Given the description of an element on the screen output the (x, y) to click on. 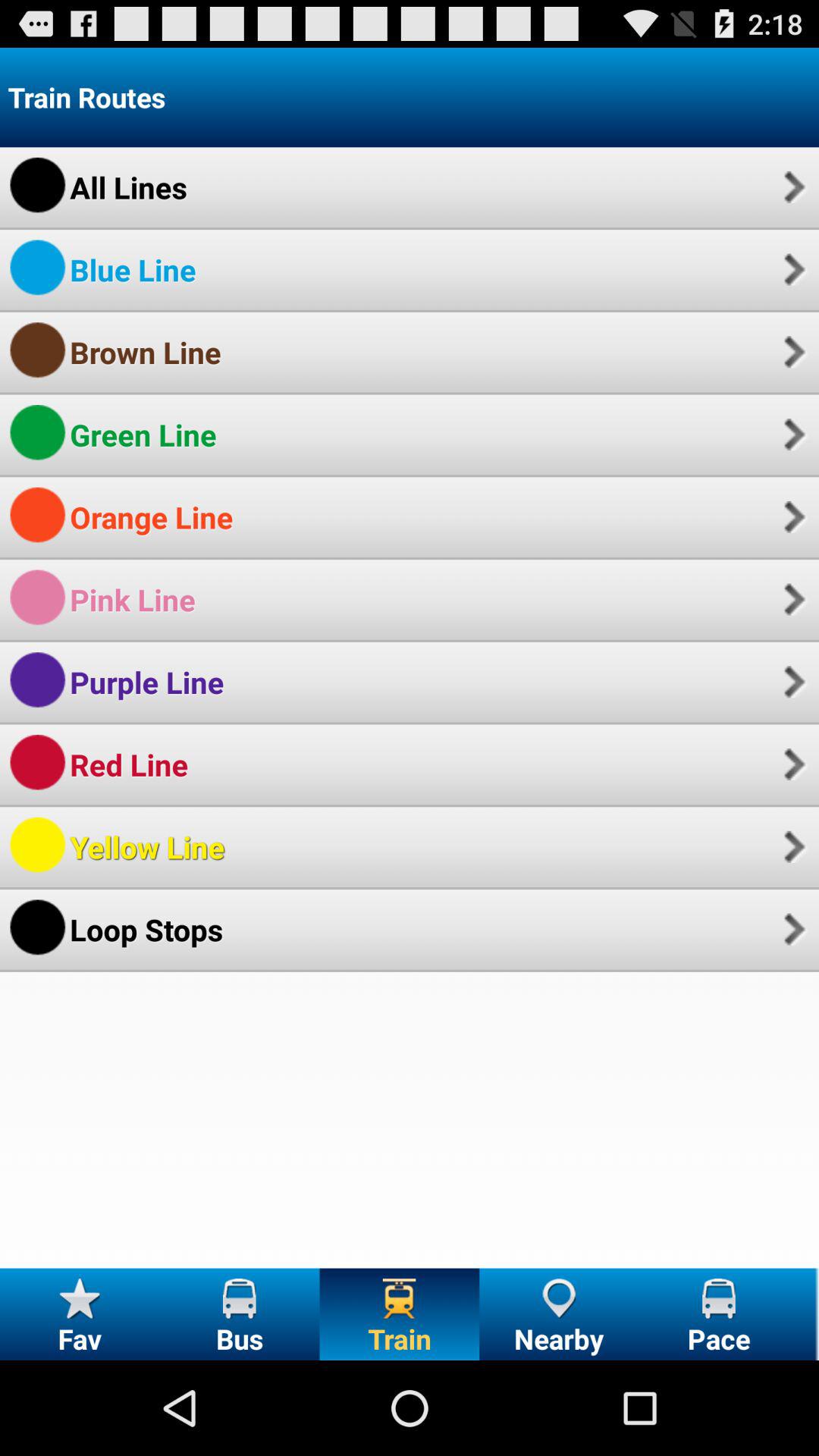
launch item next to yellow line icon (792, 846)
